Given the description of an element on the screen output the (x, y) to click on. 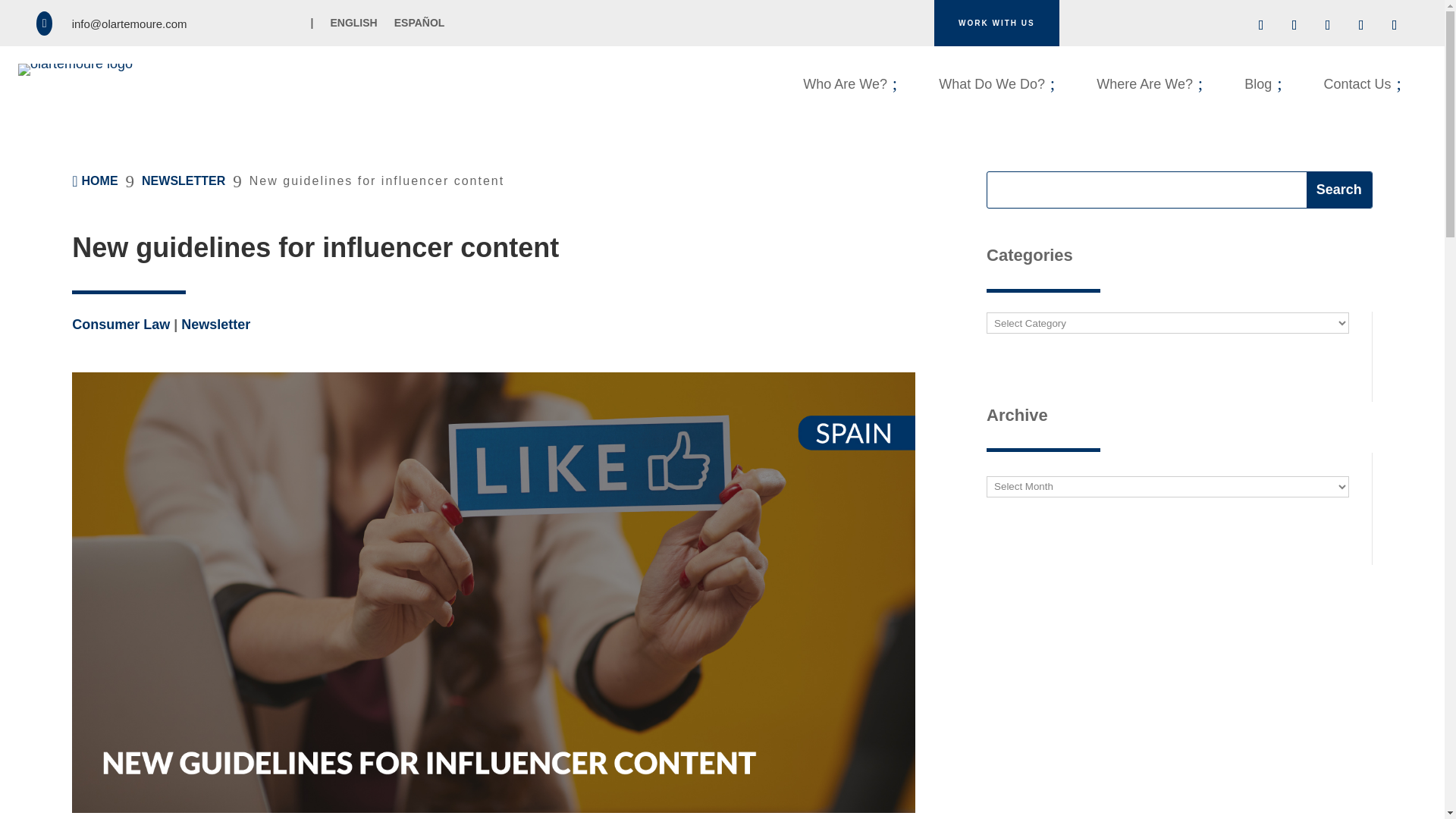
Follow on LinkedIn (1261, 24)
English (353, 25)
Logo-OM-Web (74, 69)
ENGLISH (353, 25)
Follow on Youtube (1361, 24)
Follow on Facebook (1294, 24)
Search (1338, 189)
